Given the description of an element on the screen output the (x, y) to click on. 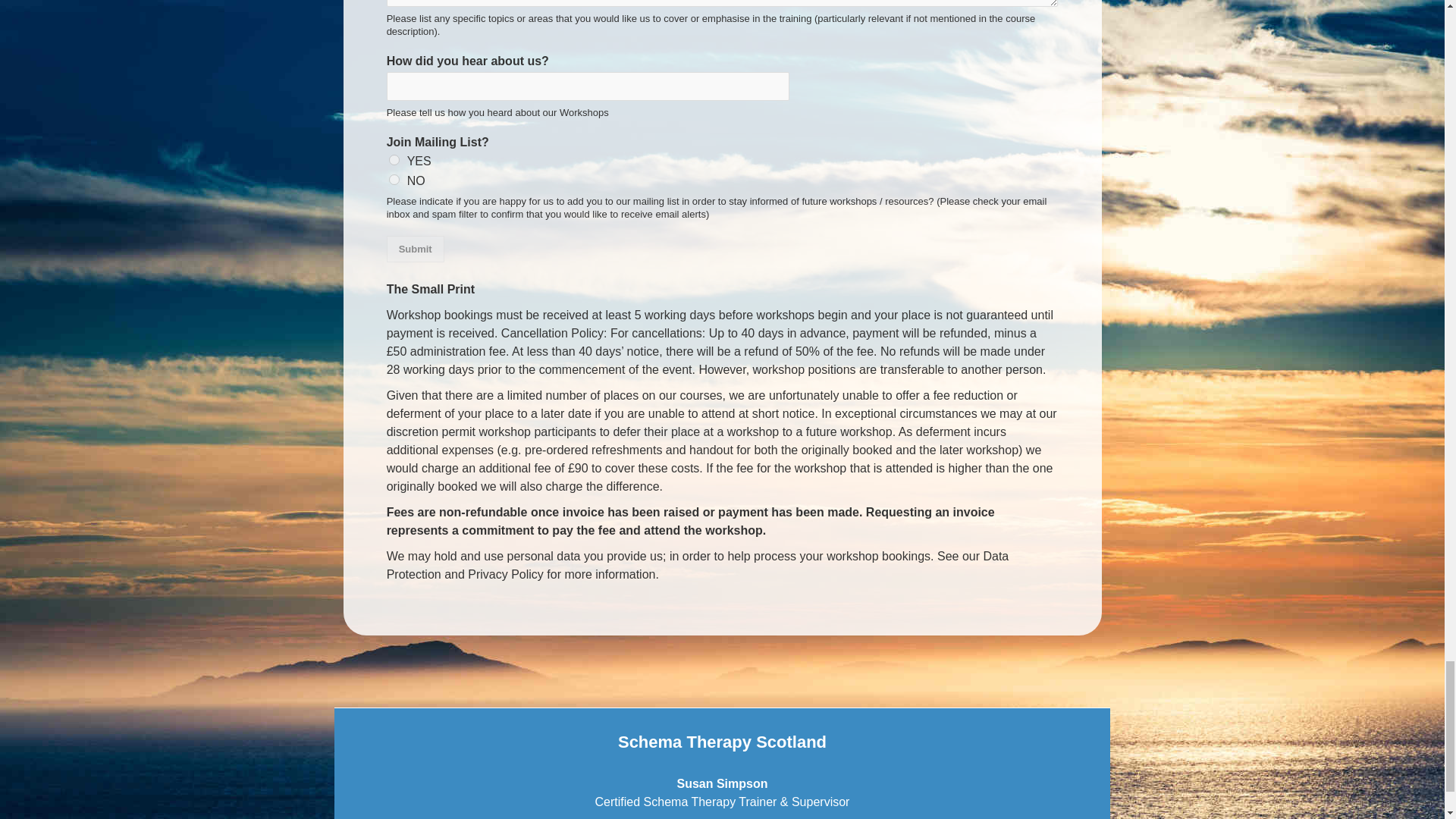
Submit (415, 248)
